Given the description of an element on the screen output the (x, y) to click on. 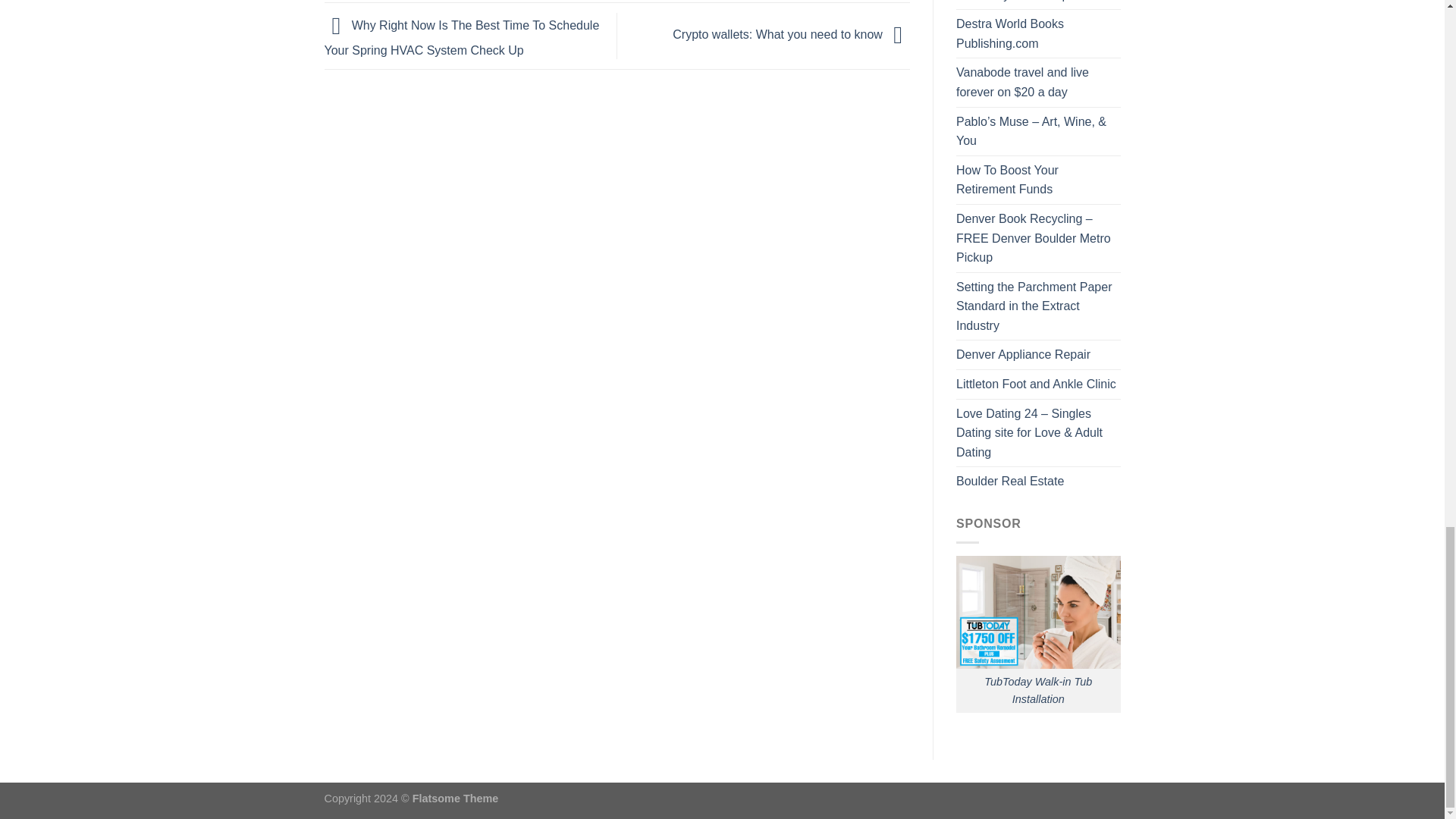
Taming the Telomeres: A Thriller by R.N. Shapiro (1038, 4)
Crypto wallets: What you need to know (791, 34)
